Given the description of an element on the screen output the (x, y) to click on. 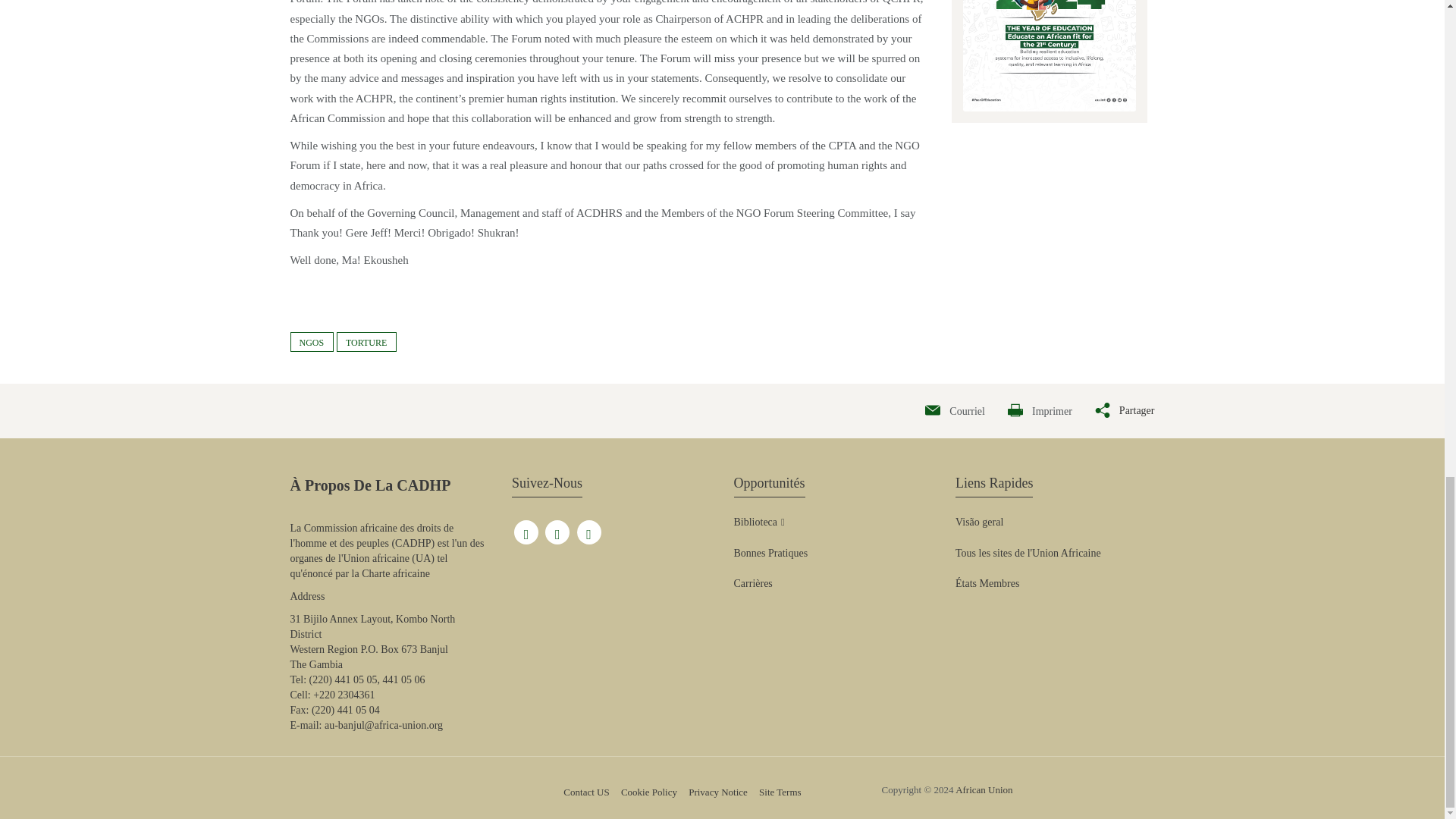
Youtube (556, 528)
Flickr (587, 528)
Member States (987, 583)
All African Union websites (1027, 553)
Twitter (525, 528)
